Given the description of an element on the screen output the (x, y) to click on. 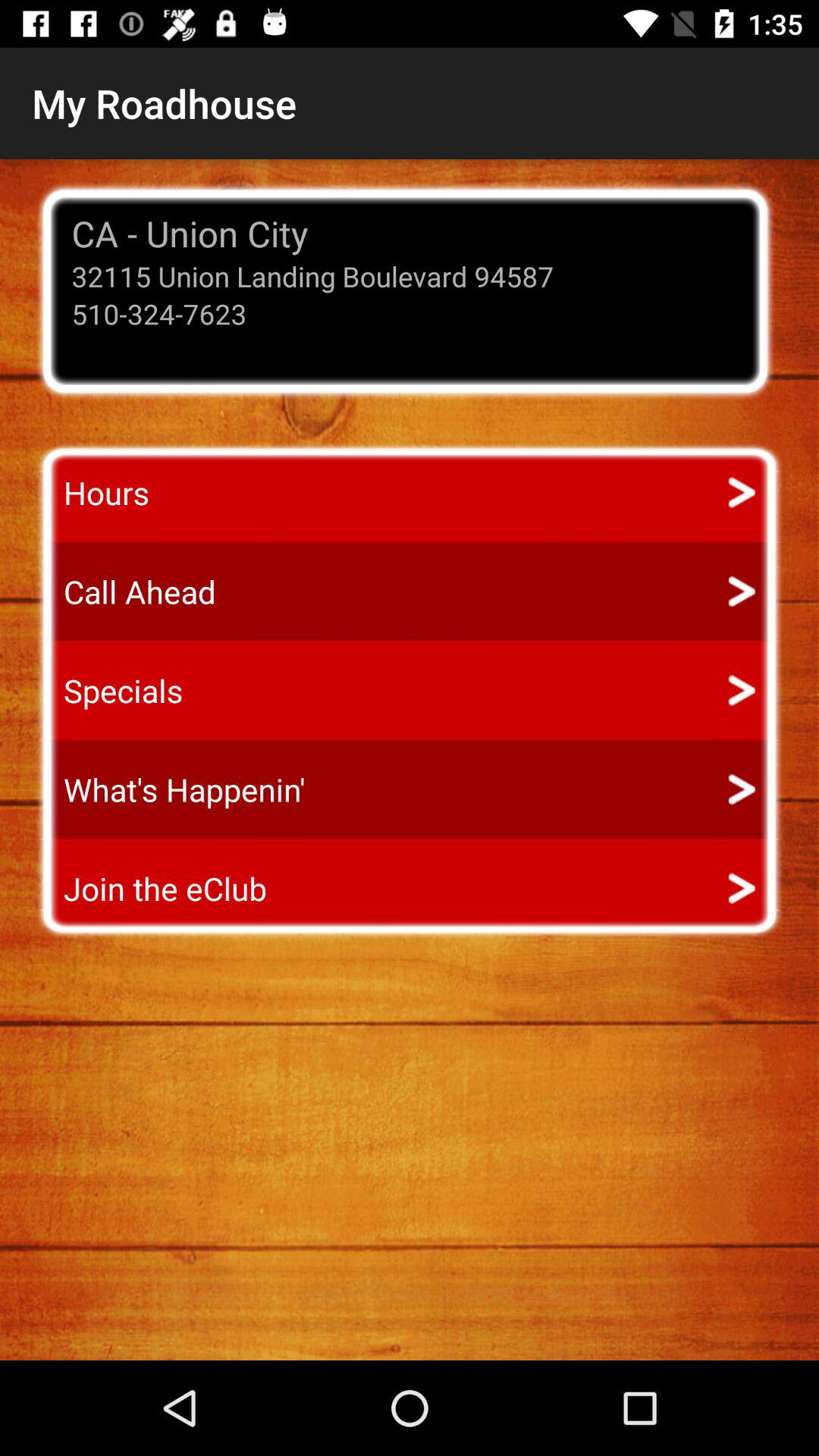
open item above join the eclub icon (170, 789)
